Given the description of an element on the screen output the (x, y) to click on. 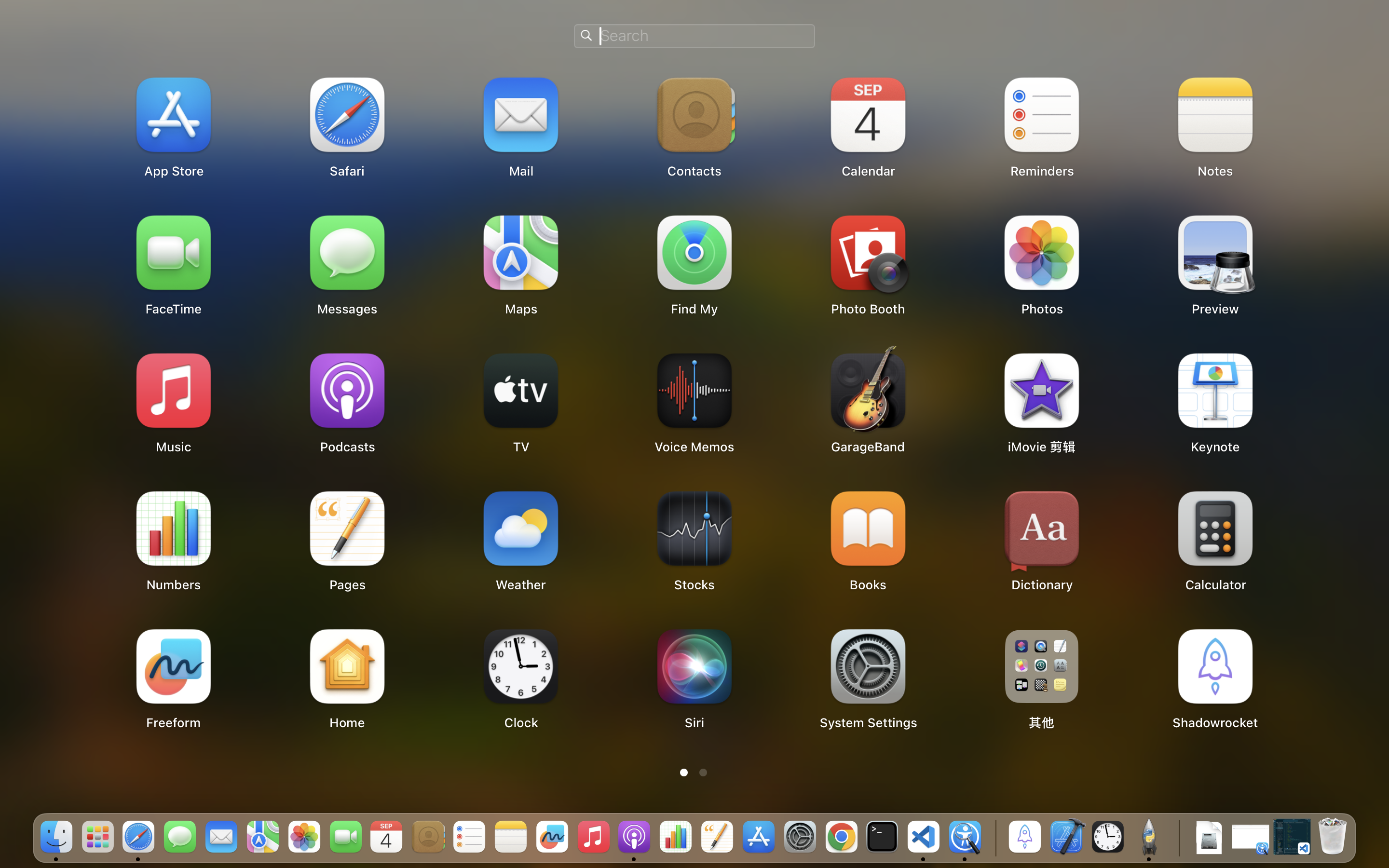
0.4285714328289032 Element type: AXDockItem (993, 837)
